Given the description of an element on the screen output the (x, y) to click on. 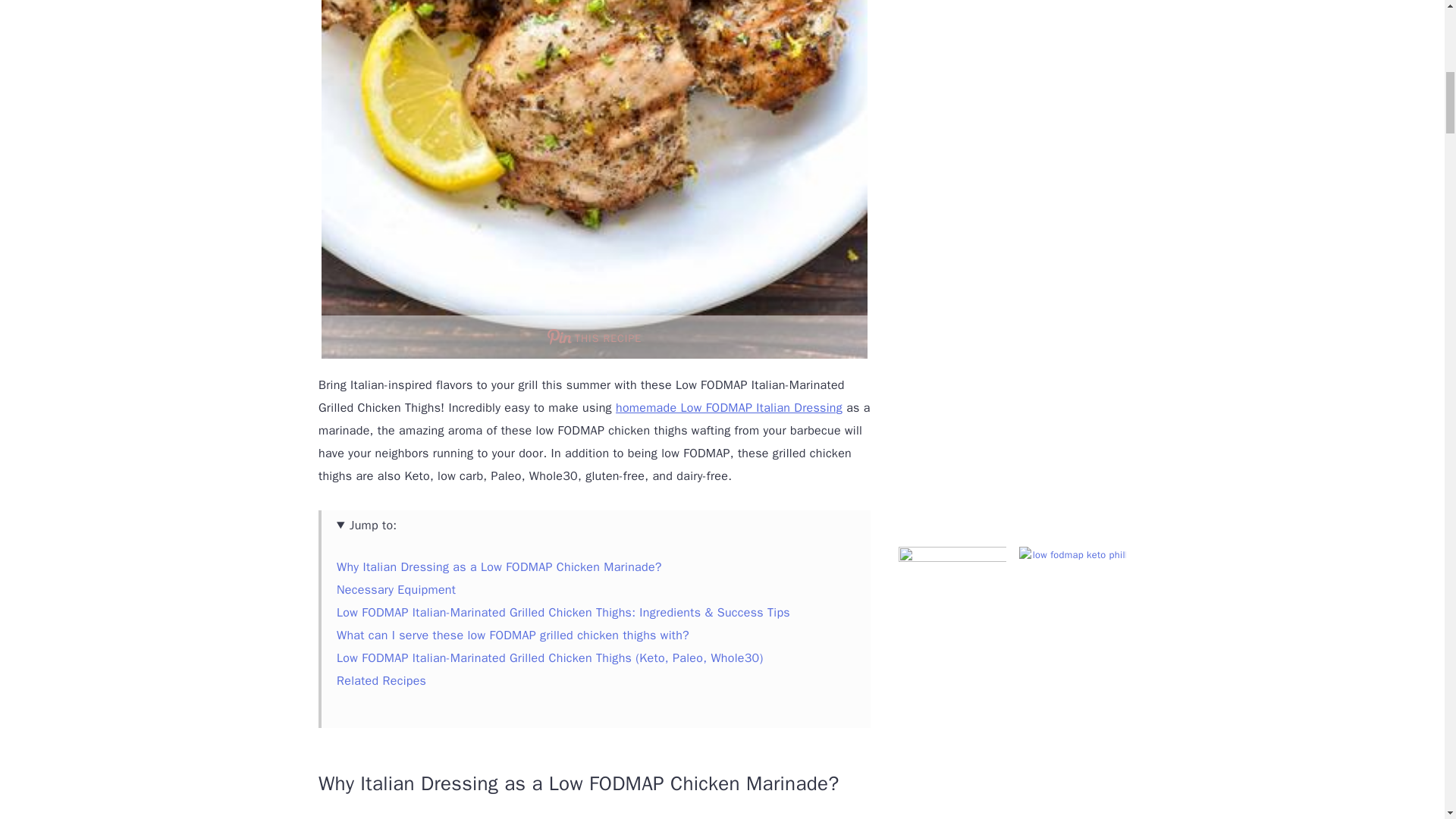
Why Italian Dressing as a Low FODMAP Chicken Marinade? (499, 566)
THIS RECIPE (594, 336)
Necessary Equipment (395, 589)
homemade Low FODMAP Italian Dressing (729, 407)
